Given the description of an element on the screen output the (x, y) to click on. 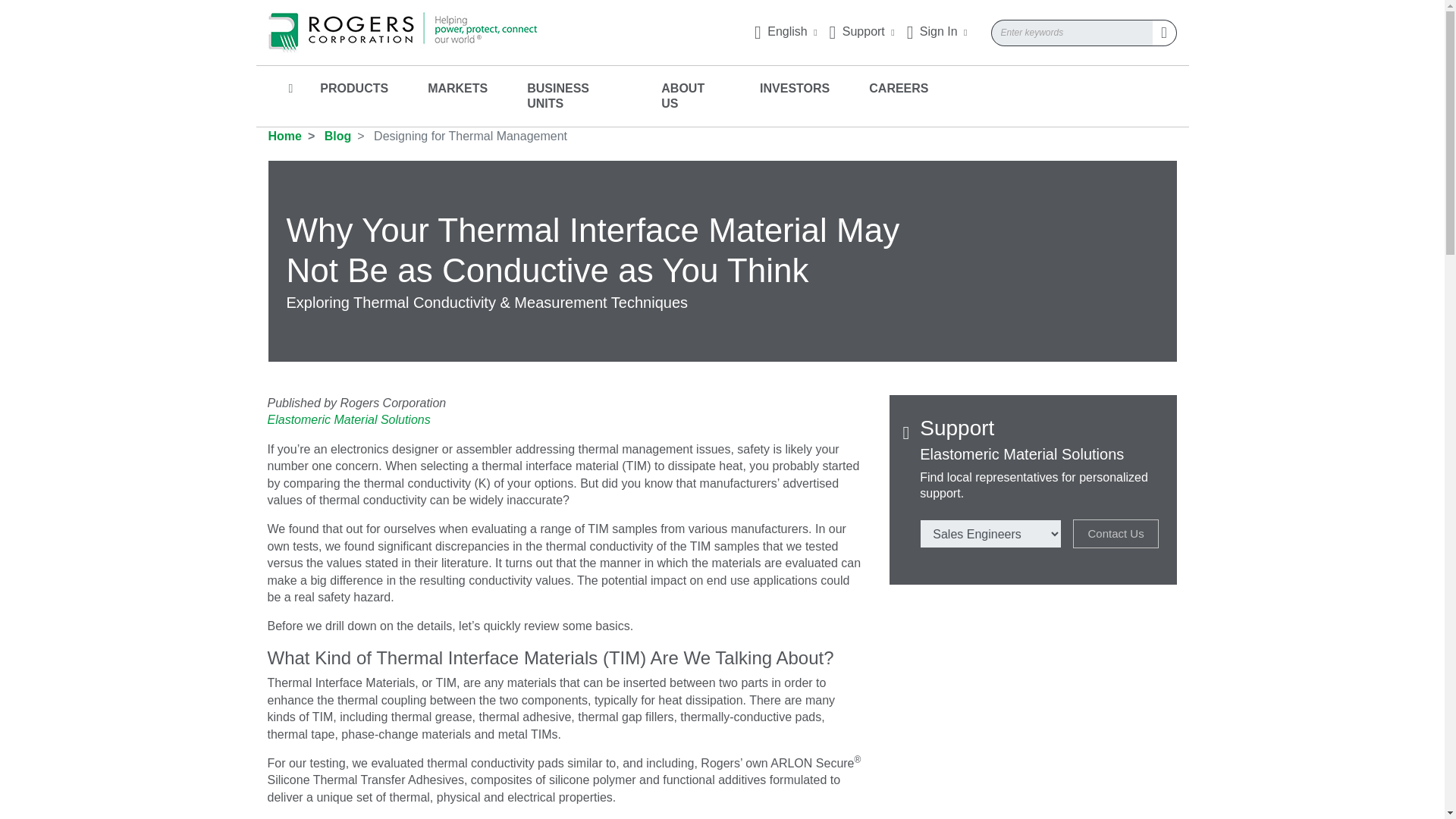
Support (862, 31)
Sign In (937, 31)
PRODUCTS (354, 81)
English (785, 31)
